Given the description of an element on the screen output the (x, y) to click on. 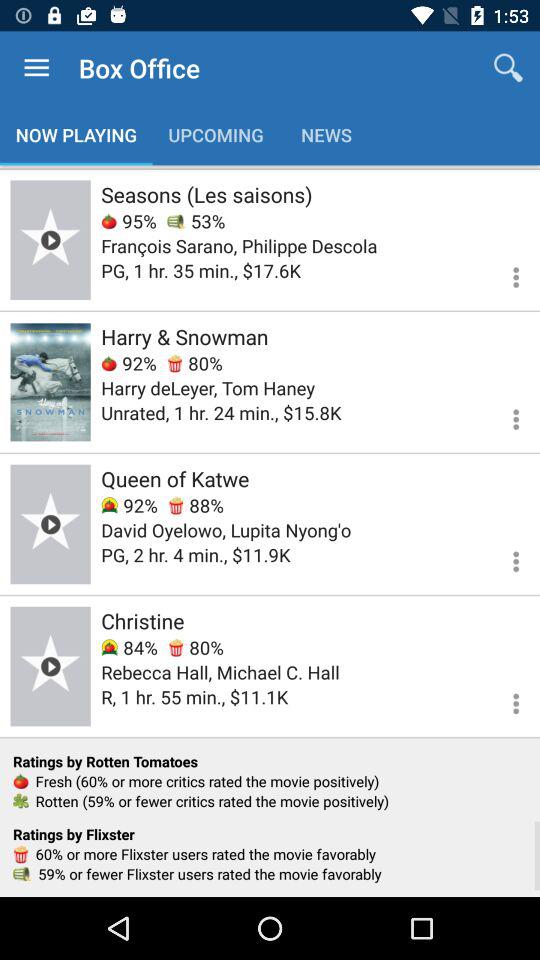
options menu (503, 274)
